Given the description of an element on the screen output the (x, y) to click on. 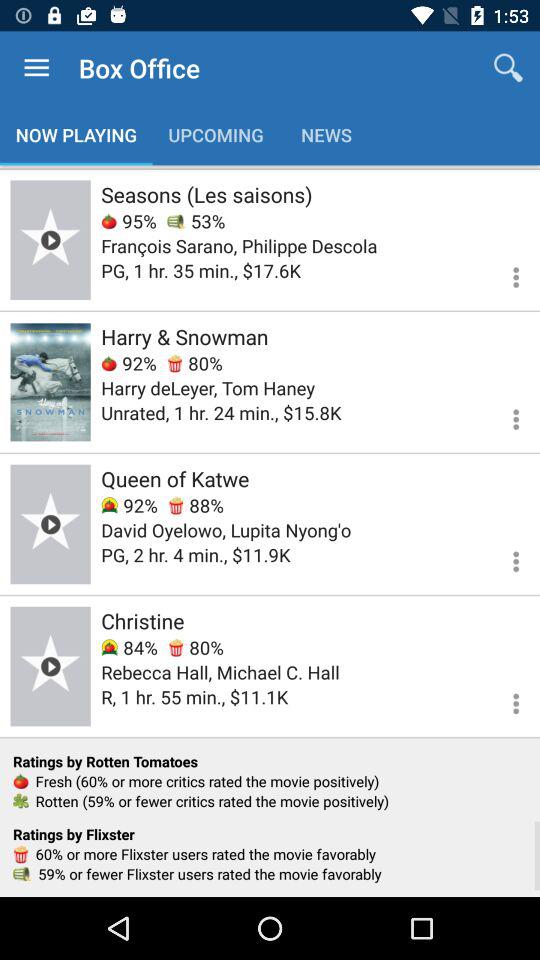
options menu (503, 274)
